Given the description of an element on the screen output the (x, y) to click on. 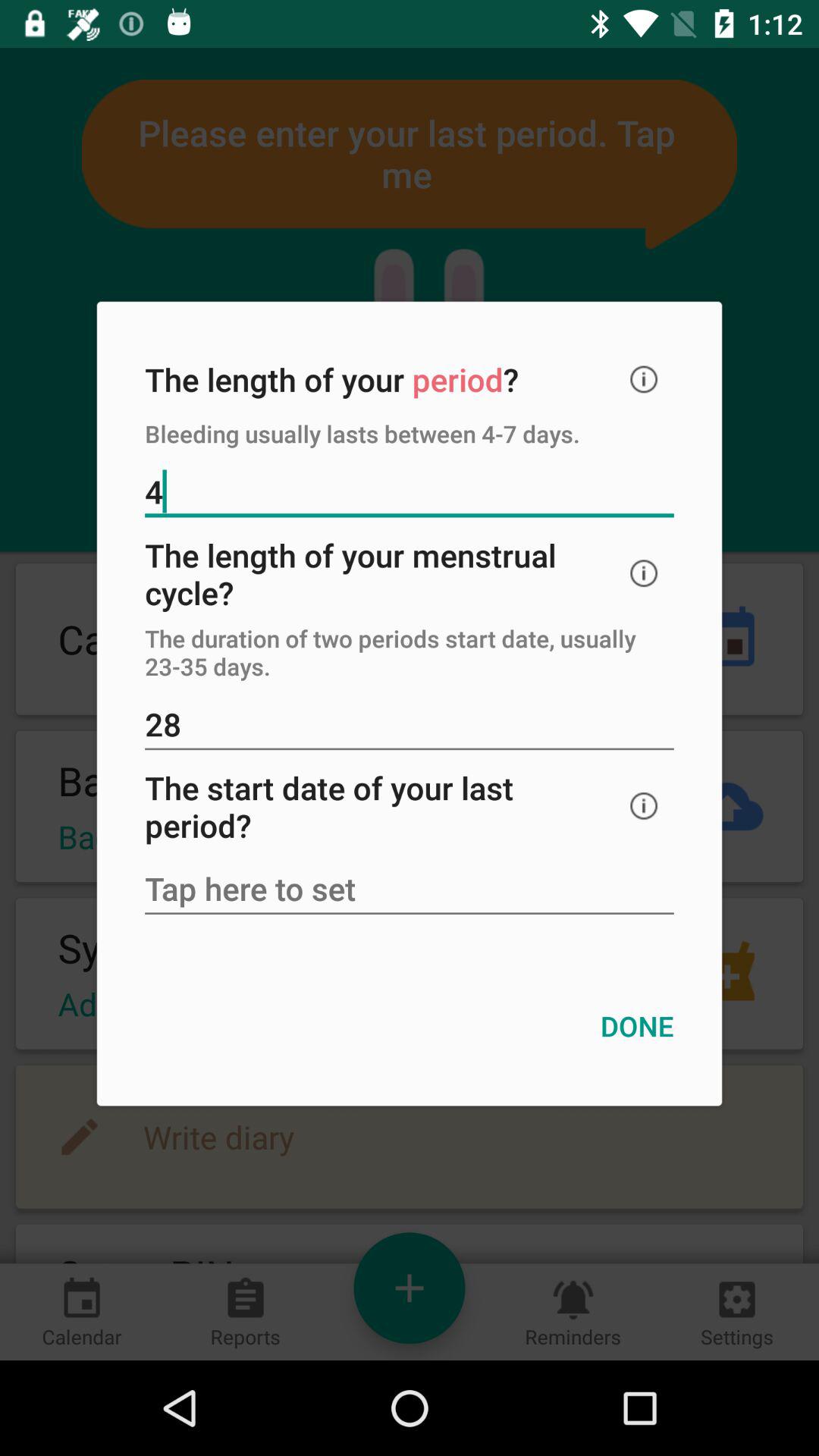
choose item below 28 item (643, 806)
